Given the description of an element on the screen output the (x, y) to click on. 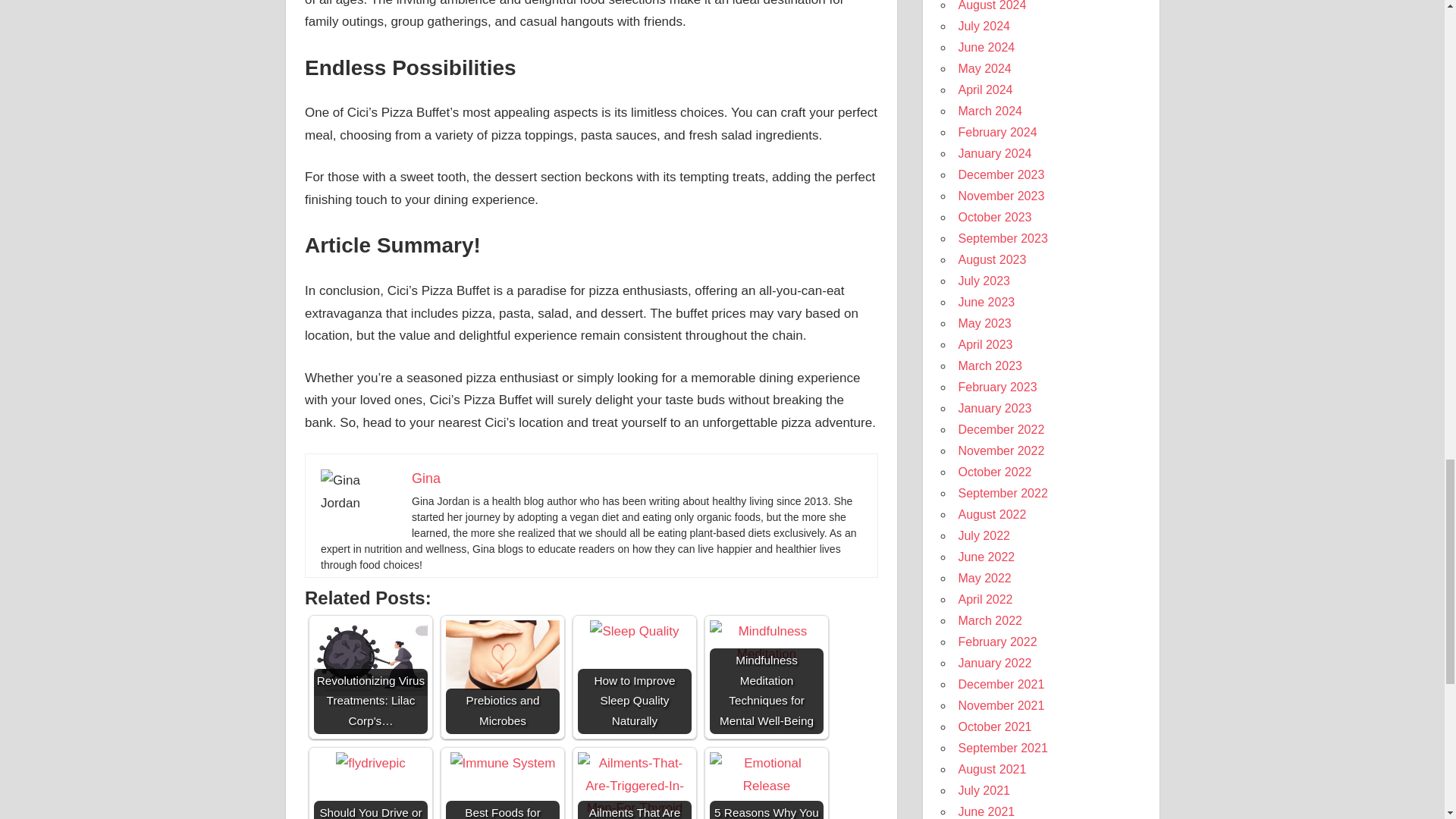
Prebiotics and Microbes (502, 655)
Prebiotics and Microbes (502, 676)
How to Improve Sleep Quality Naturally (633, 630)
Gina (426, 478)
Gina Jordan (358, 492)
Should You Drive or Fly to Your Destination? (371, 763)
Mindfulness Meditation Techniques for Mental Well-Being (767, 676)
Mindfulness Meditation Techniques for Mental Well-Being (767, 642)
Ailments That Are Triggered In Men For Thyroid (634, 785)
Should You Drive or Fly to Your Destination? (371, 785)
Ailments That Are Triggered In Men For Thyroid (634, 785)
5 Reasons Why You Should Release Negative Emotions (767, 785)
Best Foods for Boosting Immune System Naturally (502, 763)
5 Reasons Why You Should Release Negative Emotions (767, 774)
How to Improve Sleep Quality Naturally (634, 676)
